Given the description of an element on the screen output the (x, y) to click on. 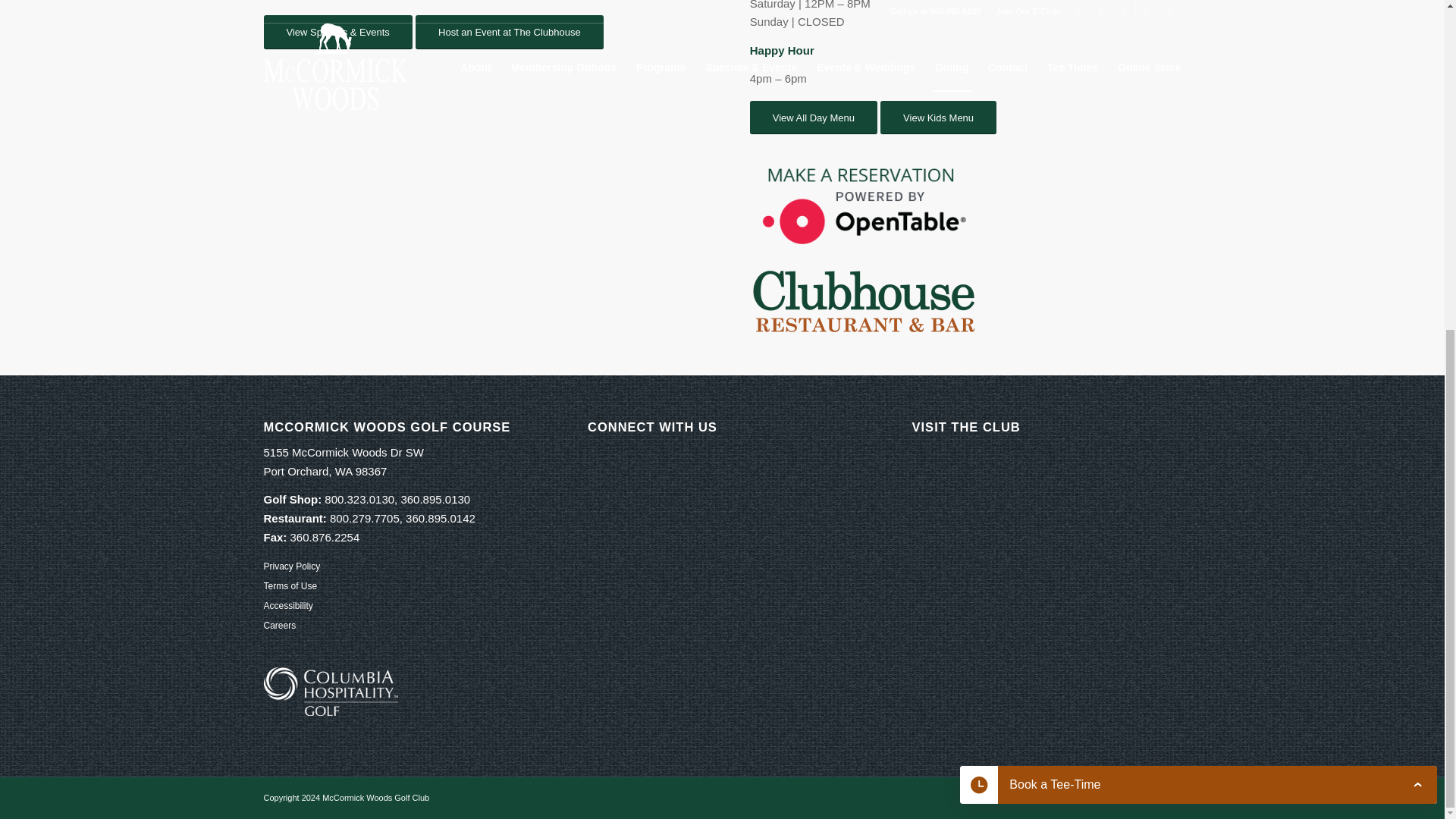
Instagram (1124, 795)
Opentable-Reservation2 (862, 203)
Pinterest (1146, 795)
RGB (862, 300)
Facebook (1078, 795)
Twitter (1101, 795)
